Given the description of an element on the screen output the (x, y) to click on. 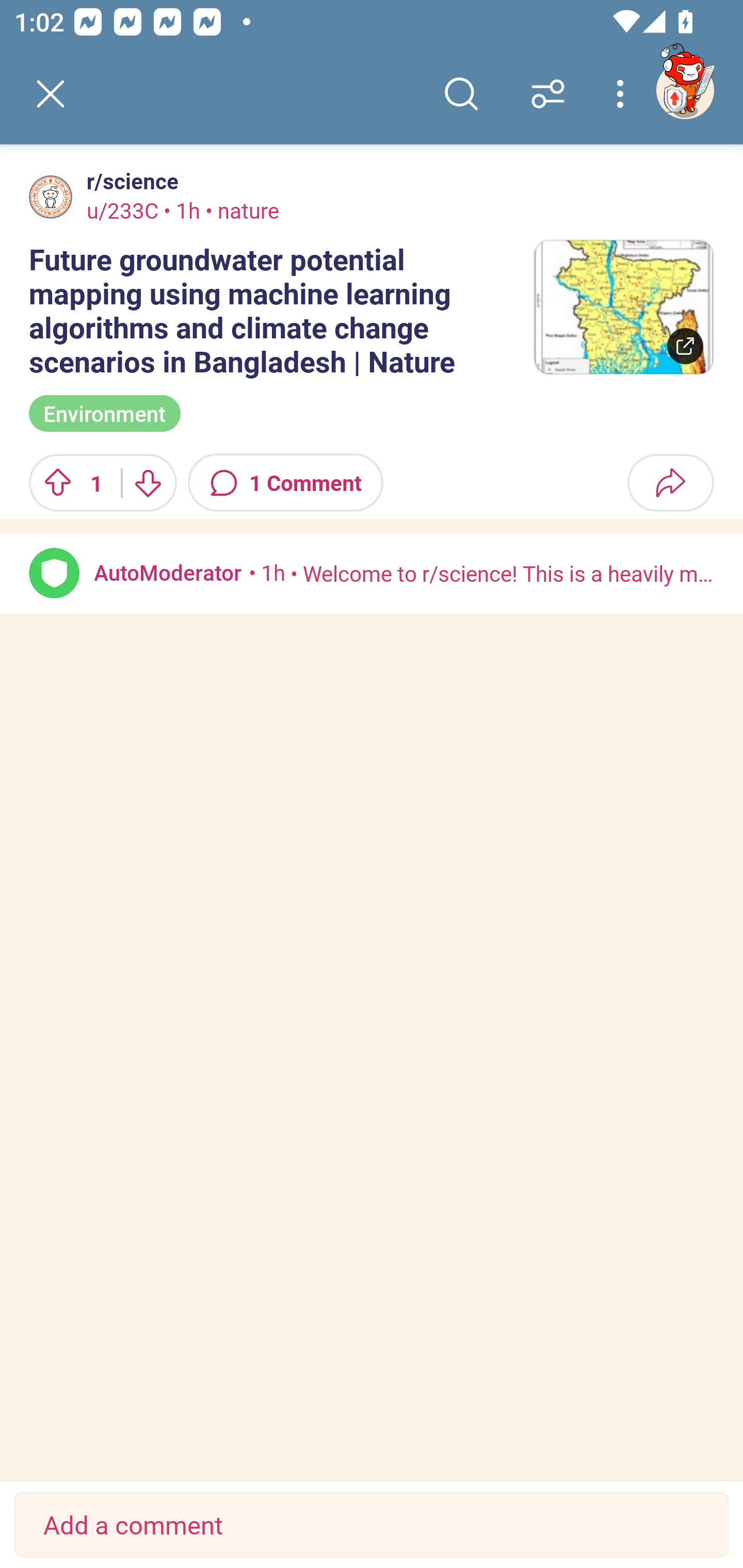
Back (50, 93)
TestAppium002 account (685, 90)
Search comments (460, 93)
Sort comments (547, 93)
More options (623, 93)
r/science (128, 181)
Avatar (50, 196)
u/233C (122, 210)
 • nature (239, 210)
Thumbnail image (623, 306)
Environment (104, 413)
Upvote 1 (67, 482)
Downvote (146, 482)
1 Comment (285, 482)
Share (670, 482)
Avatar (53, 572)
• 1h (266, 572)
Add a comment (371, 1524)
